Given the description of an element on the screen output the (x, y) to click on. 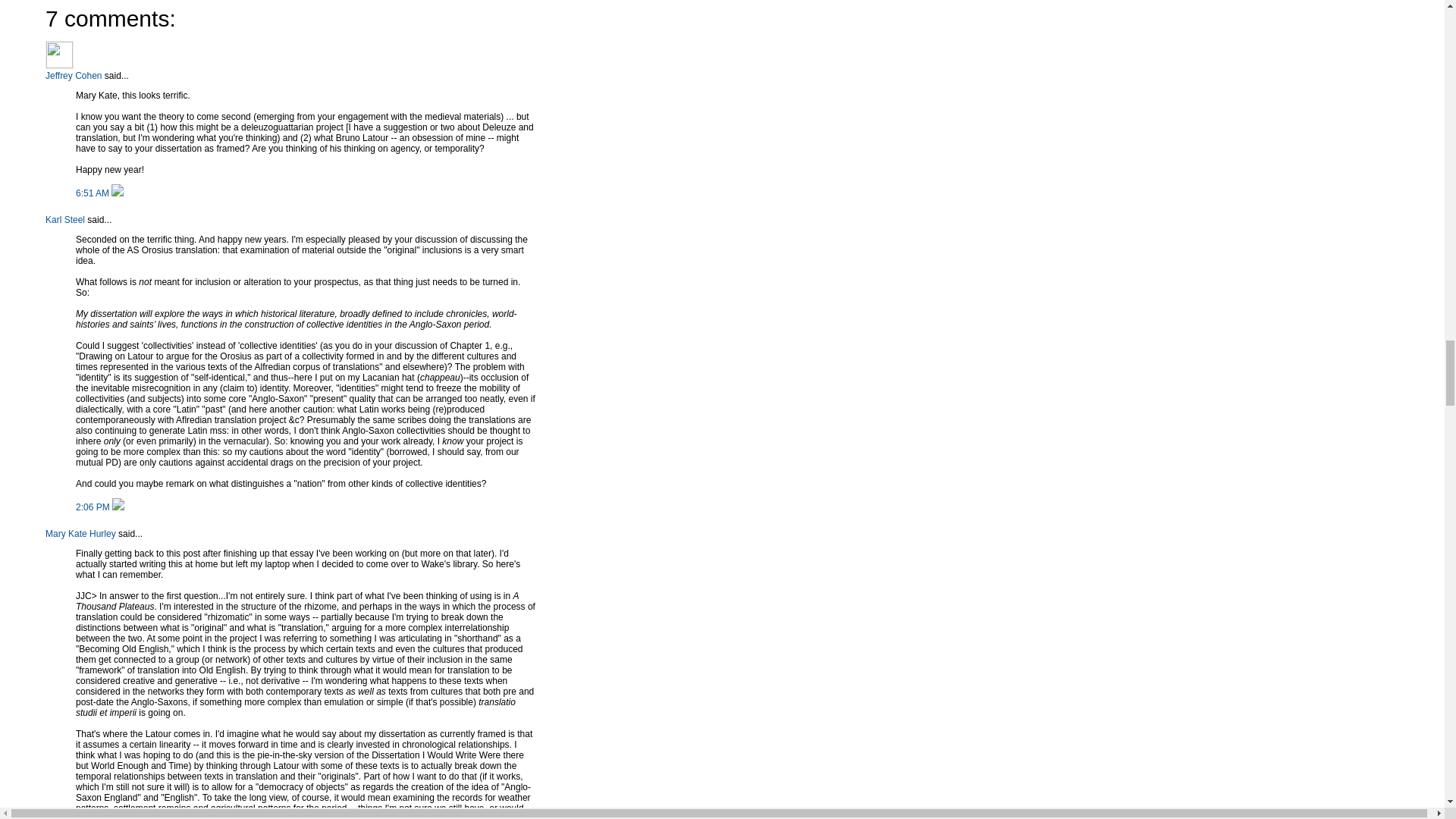
Delete Comment (117, 193)
Jeffrey Cohen (73, 75)
Jeffrey Cohen (59, 54)
comment permalink (93, 507)
Delete Comment (117, 507)
6:51 AM (93, 193)
comment permalink (93, 193)
